Given the description of an element on the screen output the (x, y) to click on. 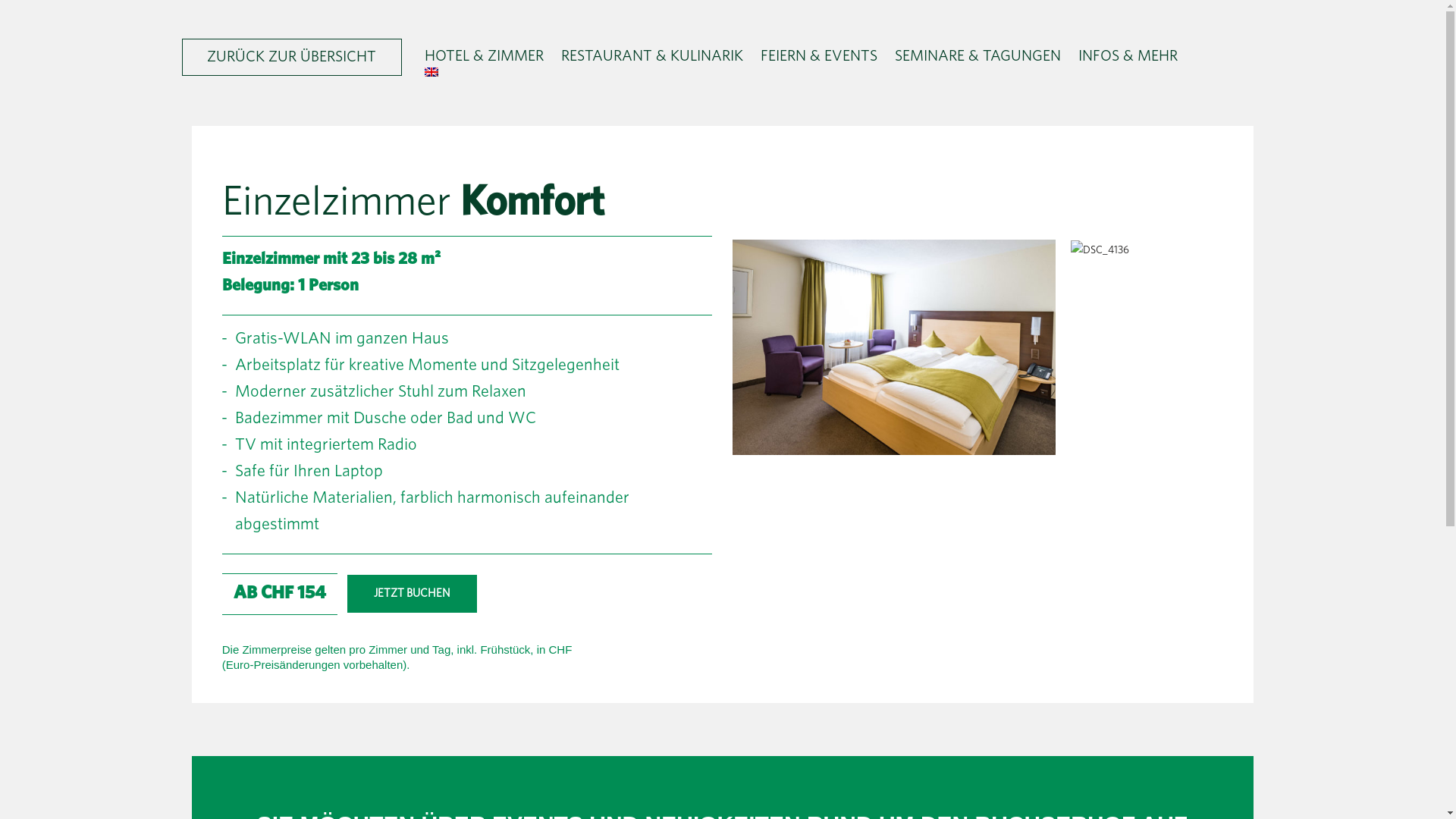
SEMINARE & TAGUNGEN Element type: text (977, 56)
INFOS & MEHR Element type: text (1127, 56)
HOTEL & ZIMMER Element type: text (483, 56)
DSC_4136 Element type: hover (1099, 250)
JETZT BUCHEN Element type: text (411, 593)
DSC_8298 Element type: hover (894, 347)
FEIERN & EVENTS Element type: text (818, 56)
RESTAURANT & KULINARIK Element type: text (652, 56)
